Given the description of an element on the screen output the (x, y) to click on. 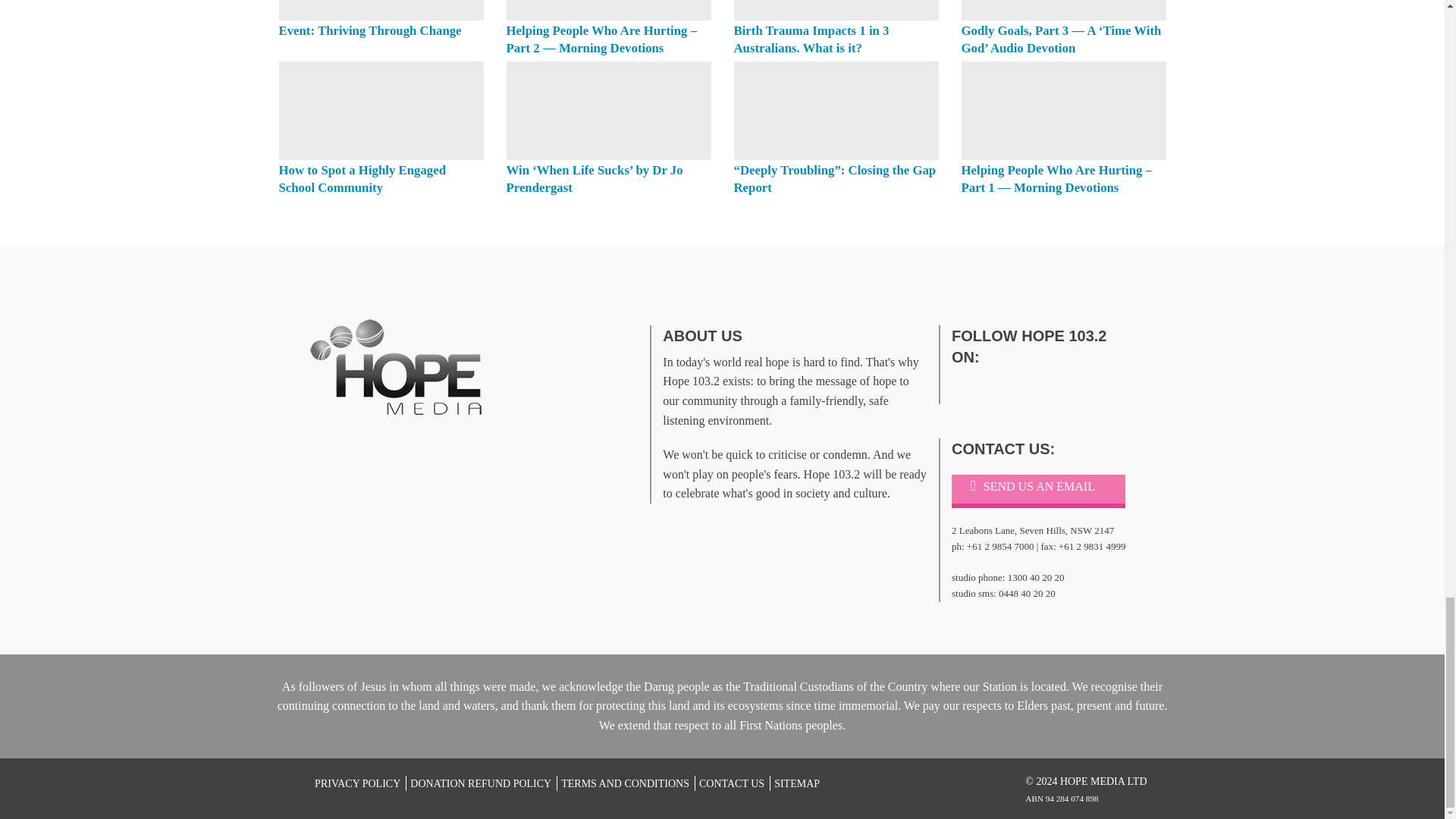
Event: Thriving Through Change (381, 10)
Event: Thriving Through Change (370, 30)
